Given the description of an element on the screen output the (x, y) to click on. 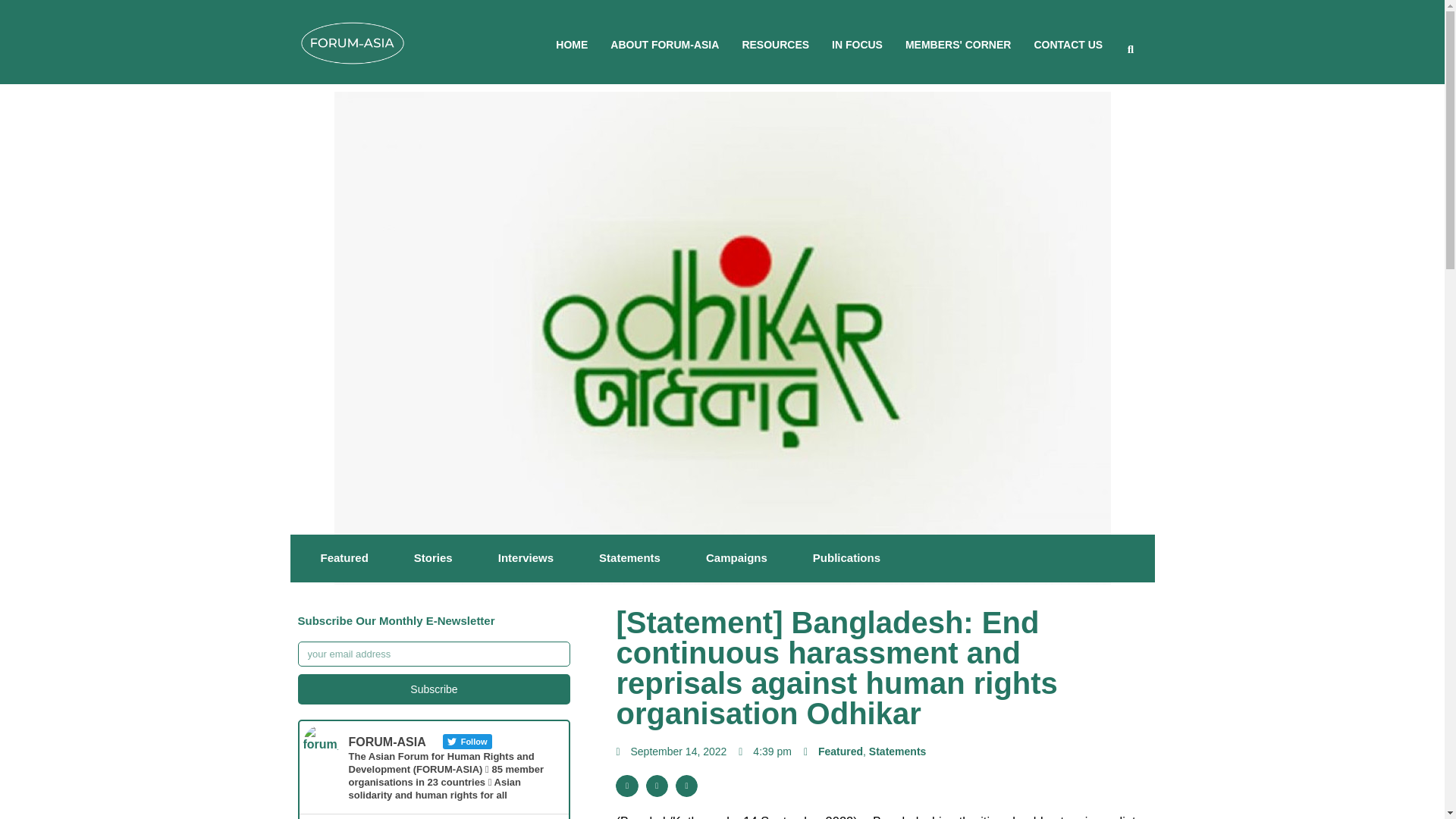
CONTACT US (1067, 44)
RESOURCES (774, 44)
MEMBERS' CORNER (957, 44)
IN FOCUS (856, 44)
ABOUT FORUM-ASIA (664, 44)
HOME (571, 44)
